Given the description of an element on the screen output the (x, y) to click on. 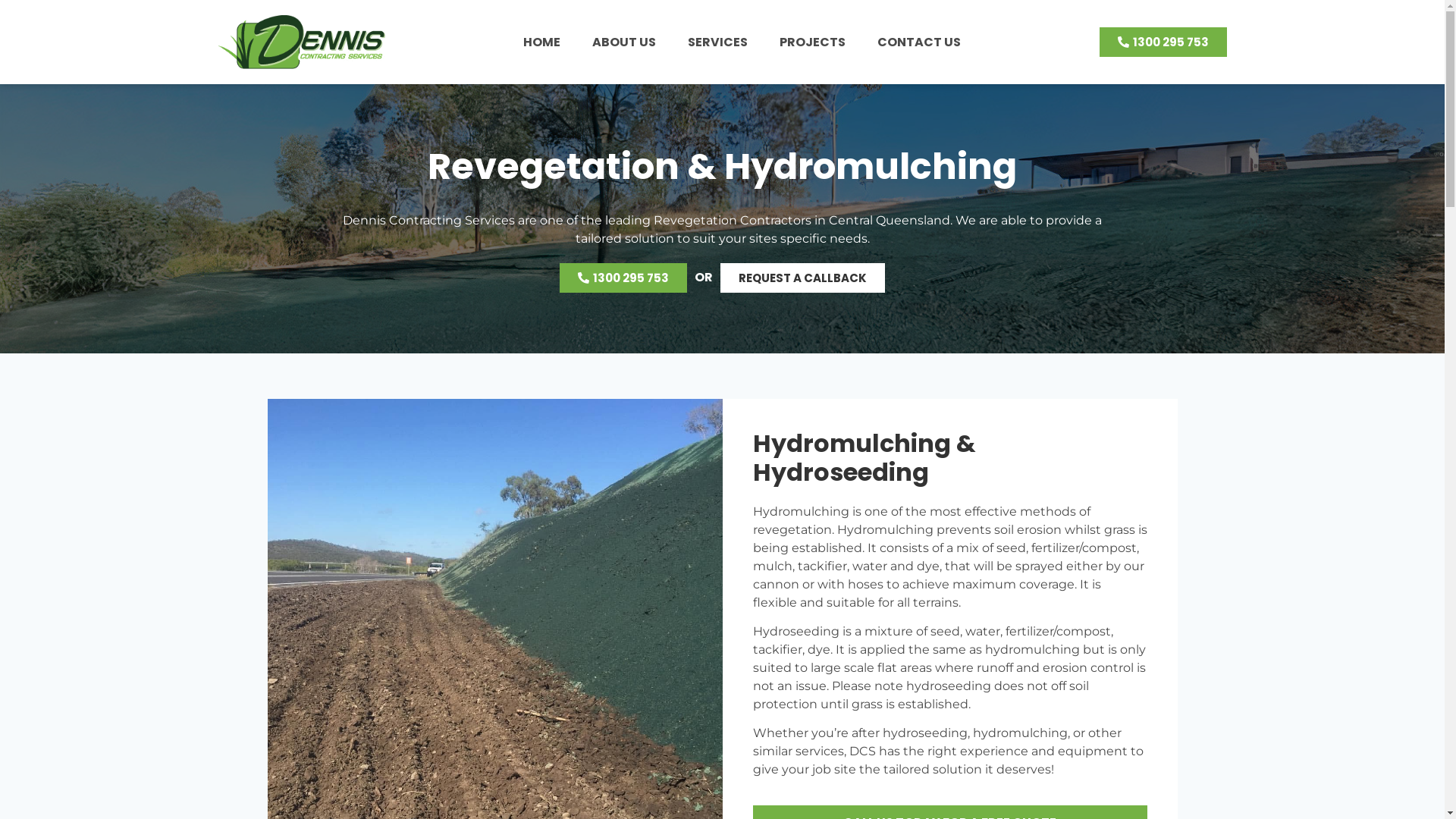
CONTACT US Element type: text (918, 42)
1300 295 753 Element type: text (623, 277)
REQUEST A CALLBACK Element type: text (802, 277)
1300 295 753 Element type: text (1162, 41)
ABOUT US Element type: text (624, 42)
SERVICES Element type: text (717, 42)
HOME Element type: text (541, 42)
PROJECTS Element type: text (812, 42)
